Given the description of an element on the screen output the (x, y) to click on. 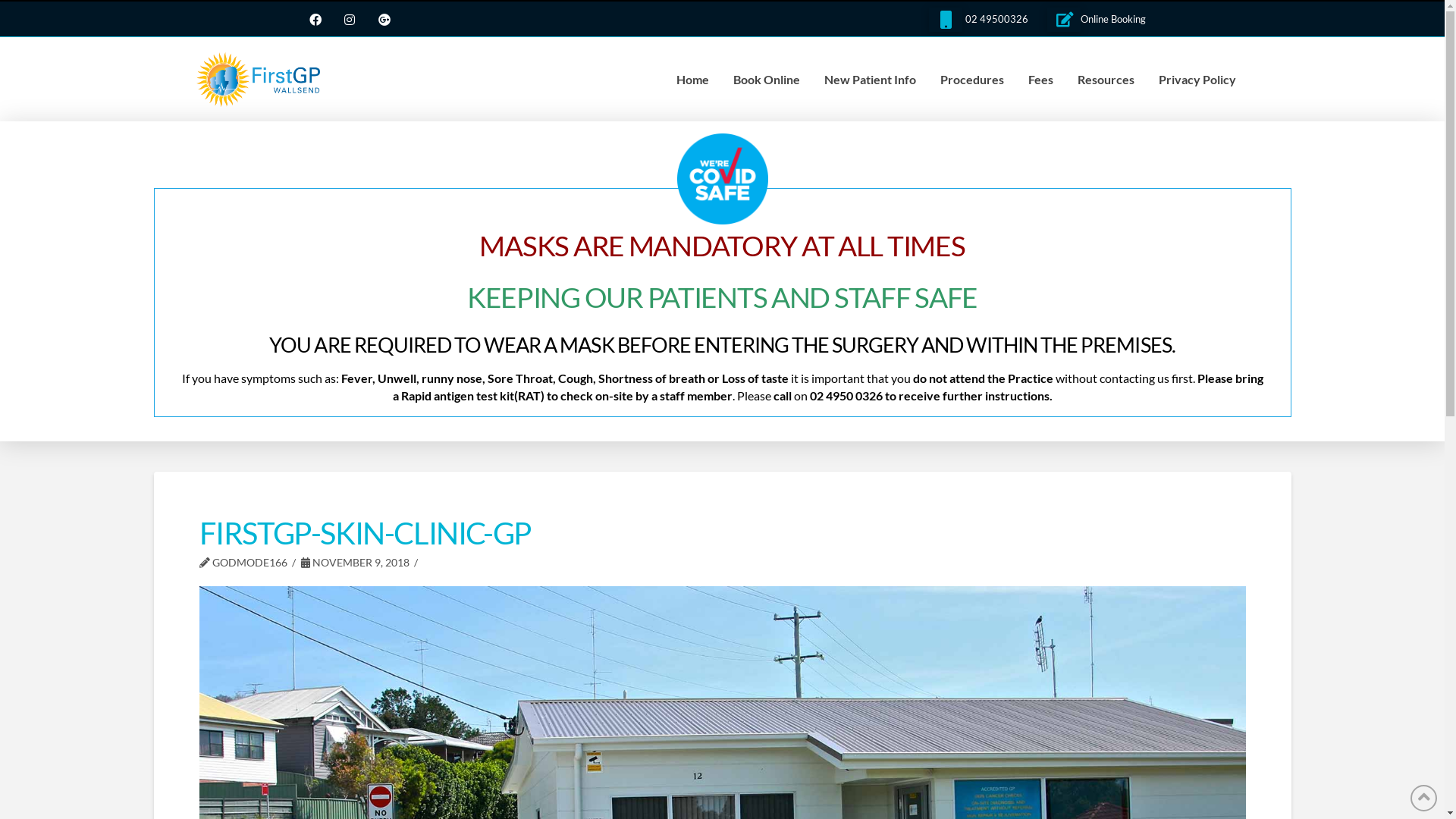
New Patient Info Element type: text (870, 79)
Procedures Element type: text (972, 79)
Home Element type: text (692, 79)
02 49500326 Element type: text (996, 18)
Back to Top Element type: hover (1423, 797)
Online Booking Element type: text (1112, 18)
Privacy Policy Element type: text (1197, 79)
Book Online Element type: text (766, 79)
Fees Element type: text (1040, 79)
Resources Element type: text (1105, 79)
